Given the description of an element on the screen output the (x, y) to click on. 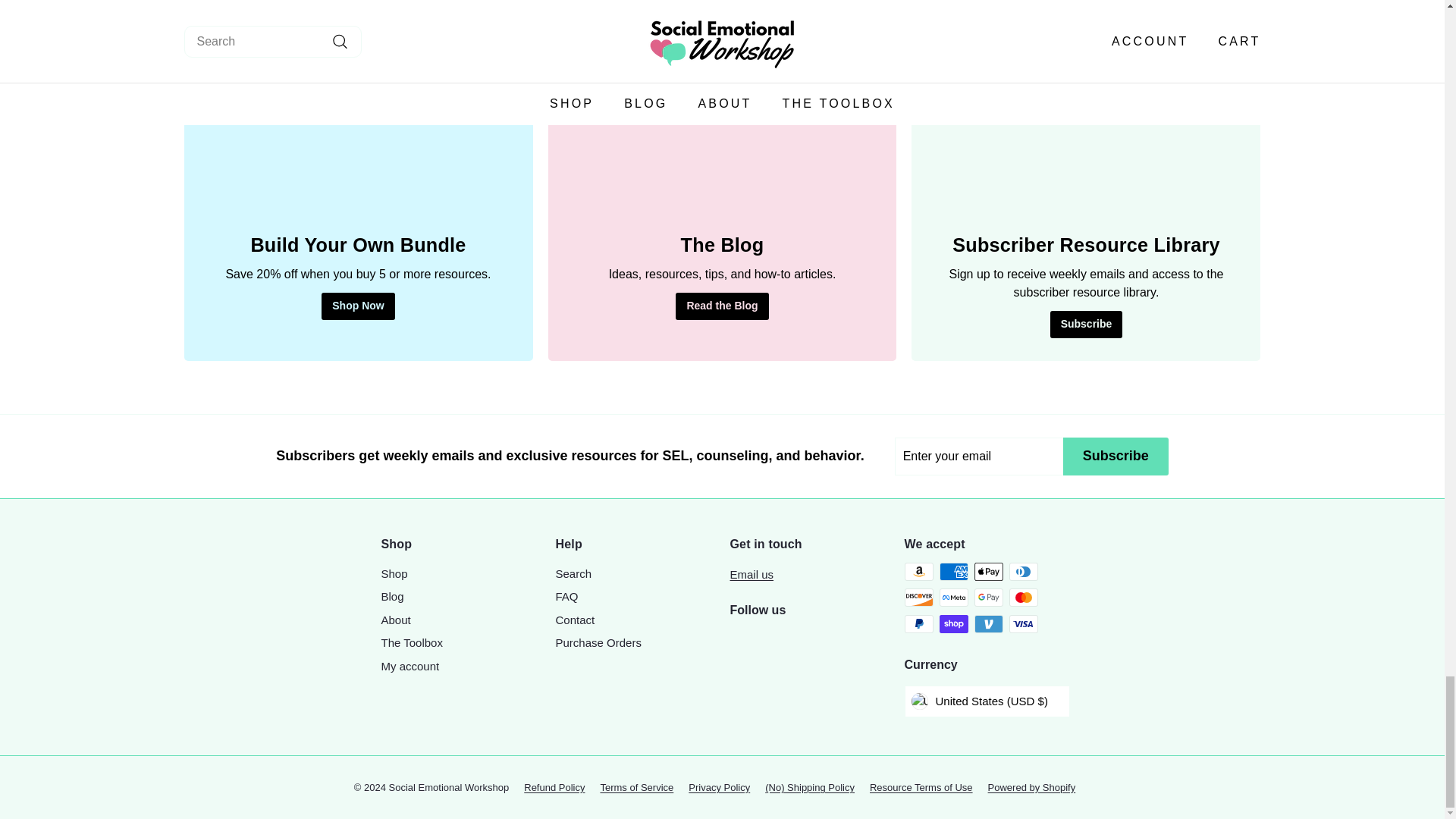
Diners Club (1022, 571)
Visa (1022, 624)
Google Pay (988, 597)
Apple Pay (988, 571)
Mastercard (1022, 597)
Discover (918, 597)
Meta Pay (953, 597)
American Express (953, 571)
PayPal (918, 624)
Venmo (988, 624)
Shop Pay (953, 624)
Amazon (918, 571)
